Given the description of an element on the screen output the (x, y) to click on. 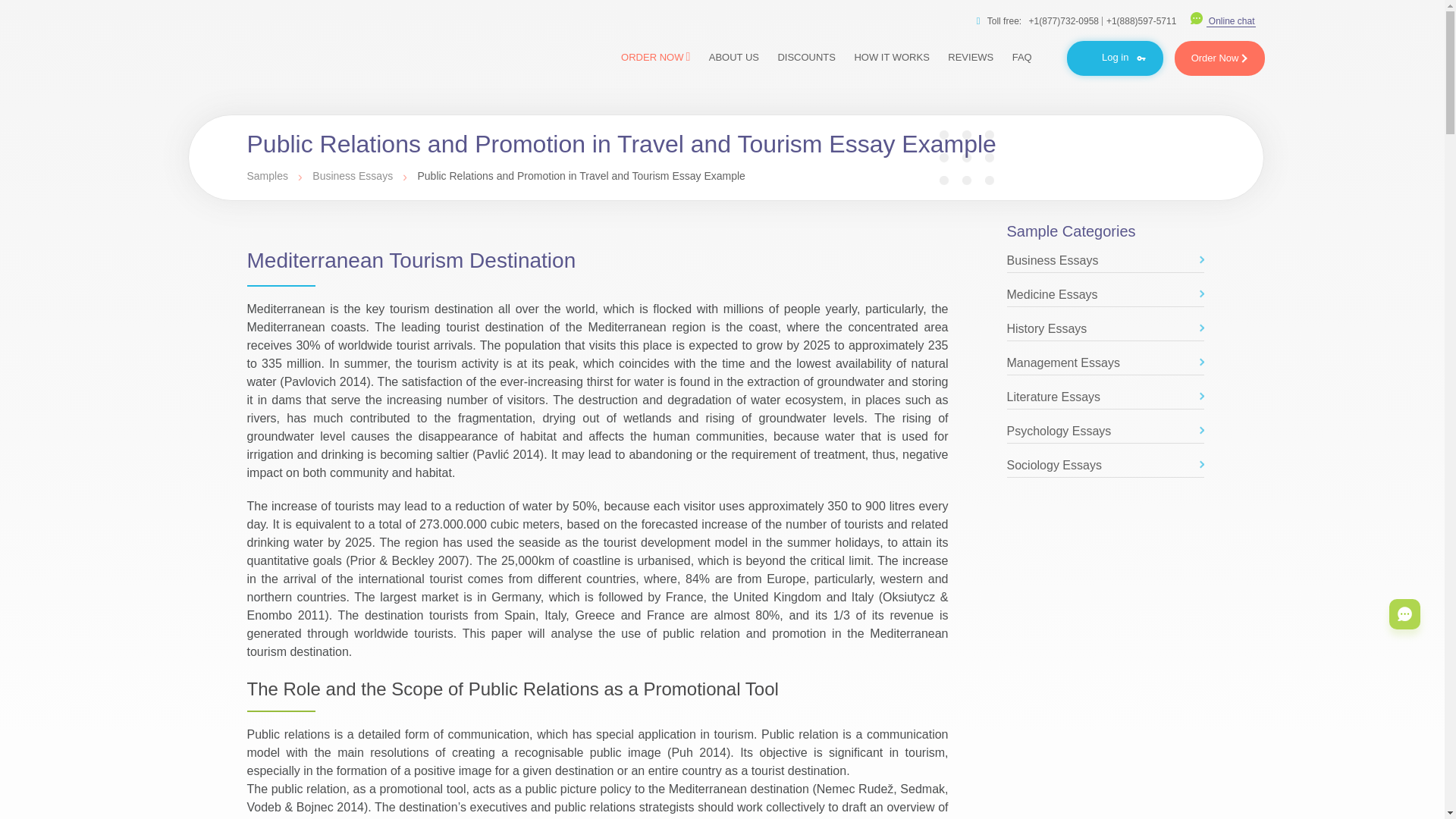
REVIEWS (970, 57)
Business Essays (354, 175)
ORDER NOW (654, 56)
Samples (269, 175)
FAQ (1021, 57)
ABOUT US (734, 57)
Go to Samples (269, 175)
Medicine Essays (1105, 296)
Order Now (1219, 58)
Business Essays (1105, 261)
